Given the description of an element on the screen output the (x, y) to click on. 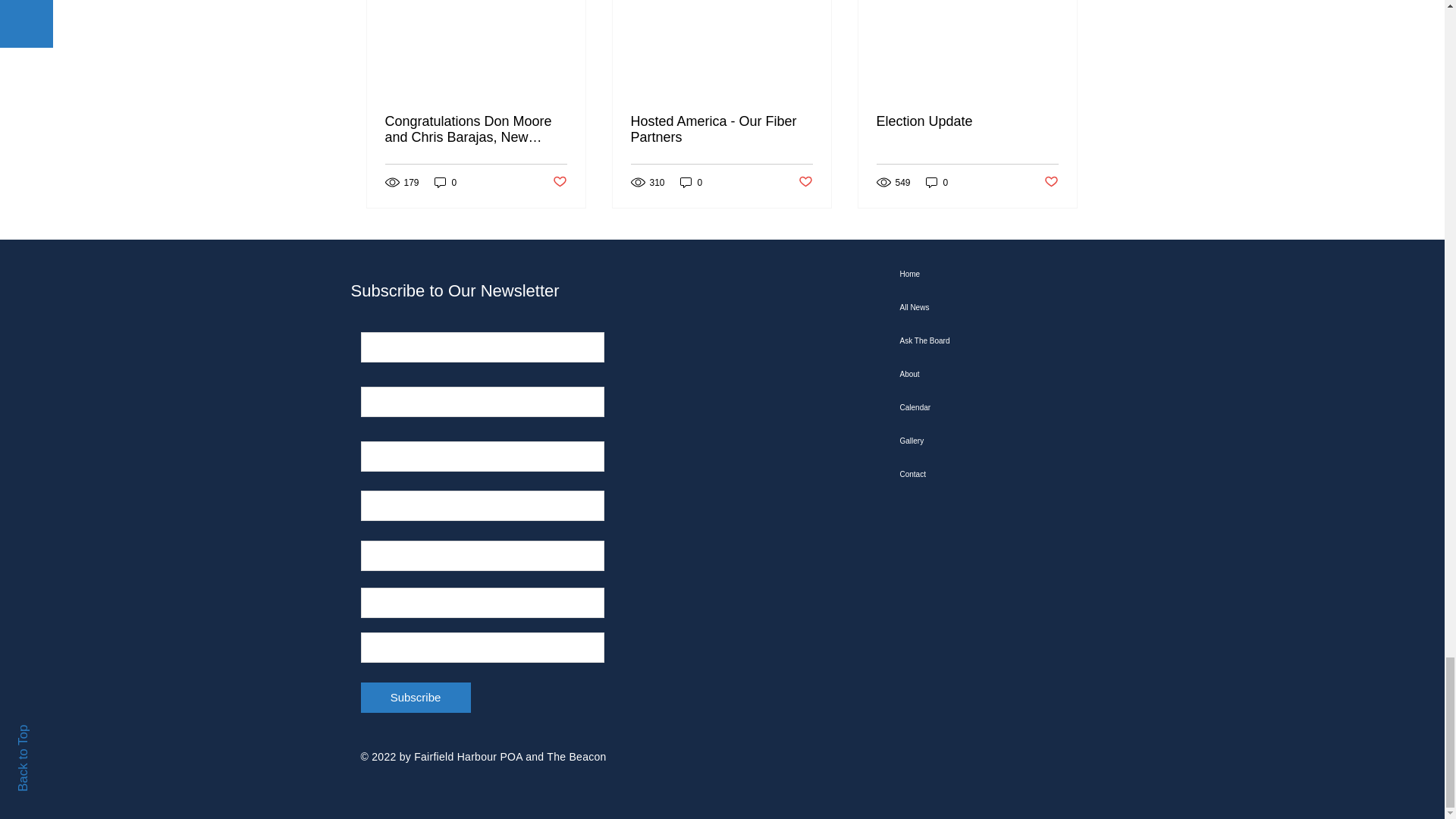
0 (445, 182)
Post not marked as liked (558, 182)
